Given the description of an element on the screen output the (x, y) to click on. 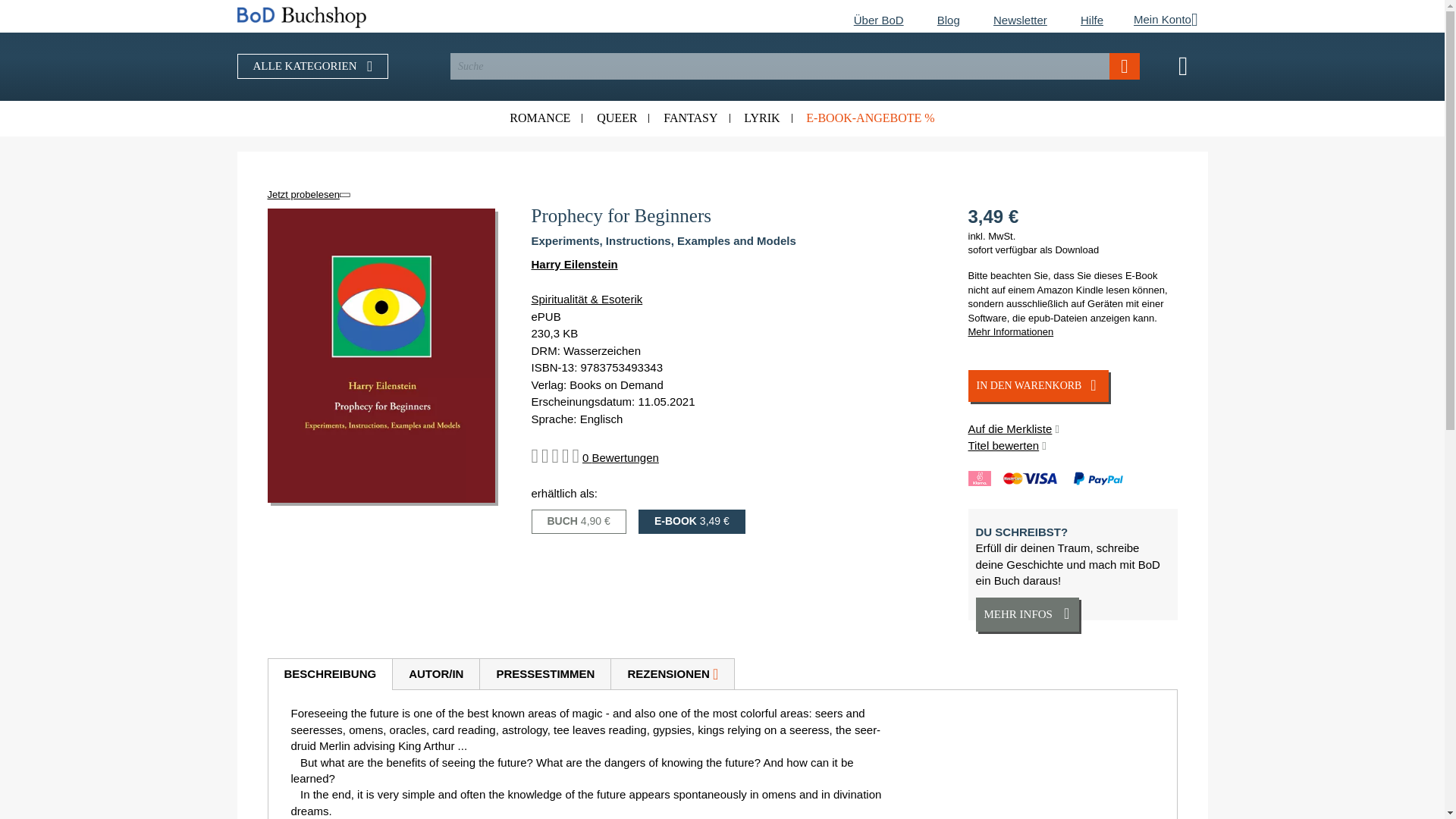
Klarna (979, 478)
In den Warenkorb (1038, 386)
BoD Buchshop (376, 16)
Mein Konto (1158, 20)
Blog (948, 19)
ALLE KATEGORIEN (311, 66)
PayPal (1103, 478)
Kreditkarte (1039, 479)
Hilfe (1091, 19)
Suche (1124, 66)
Newsletter (1020, 19)
